Given the description of an element on the screen output the (x, y) to click on. 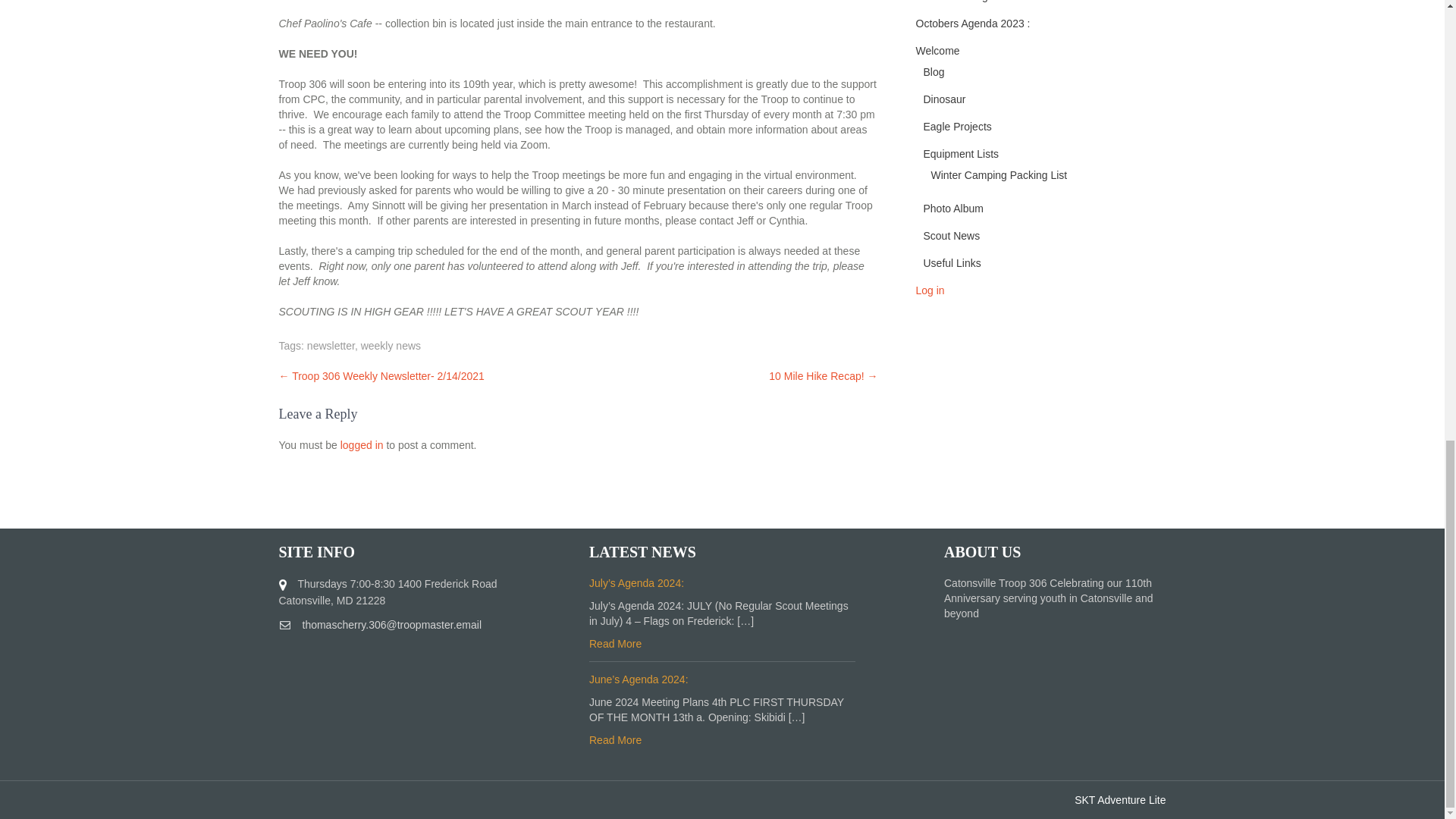
newsletter (331, 345)
weekly news (390, 345)
logged in (362, 444)
